Given the description of an element on the screen output the (x, y) to click on. 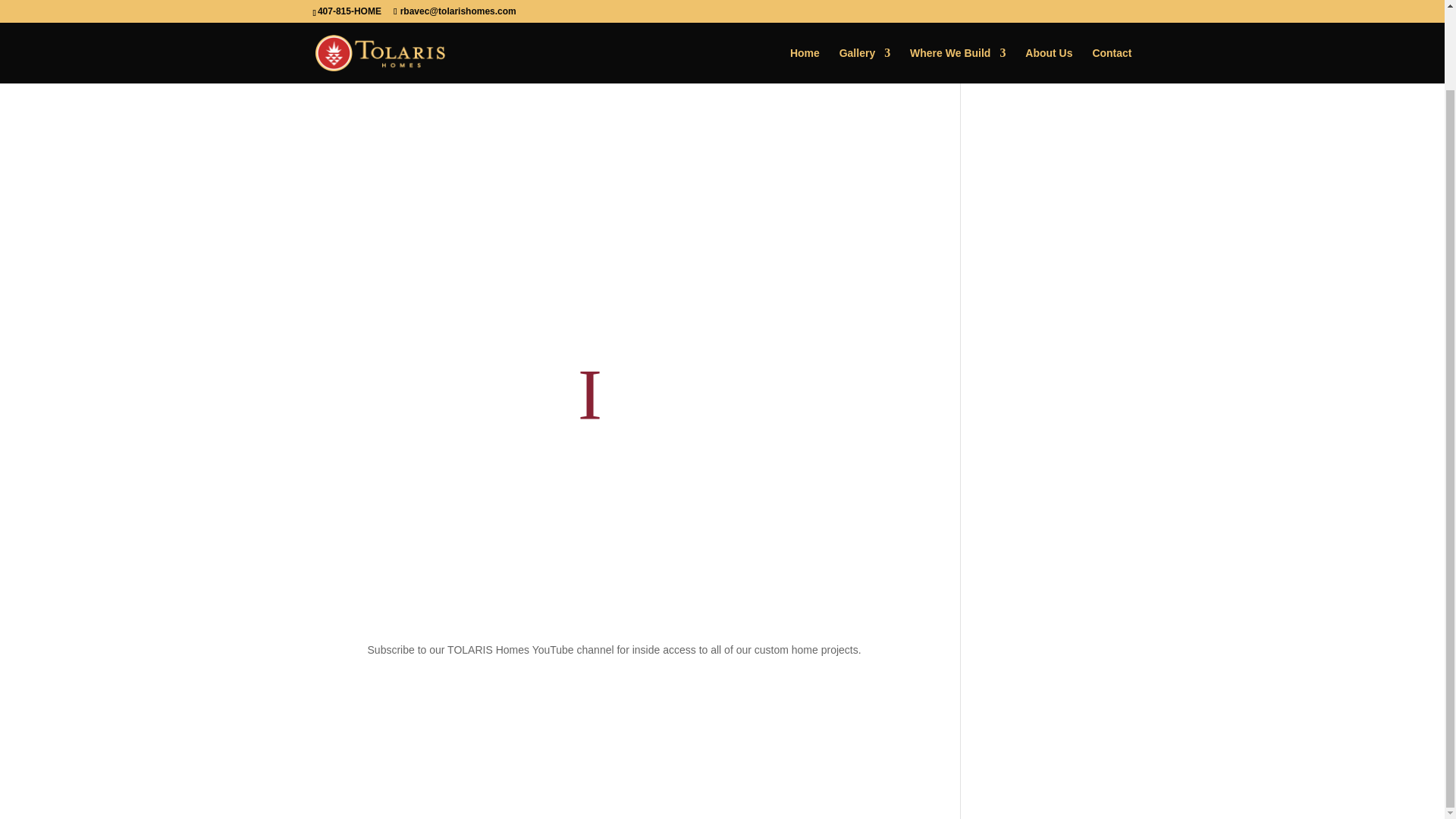
Custom Home (422, 76)
Rough Plumbing (502, 76)
Posts by Rick Bavec (353, 76)
Rick Bavec (353, 76)
Video (560, 76)
